Given the description of an element on the screen output the (x, y) to click on. 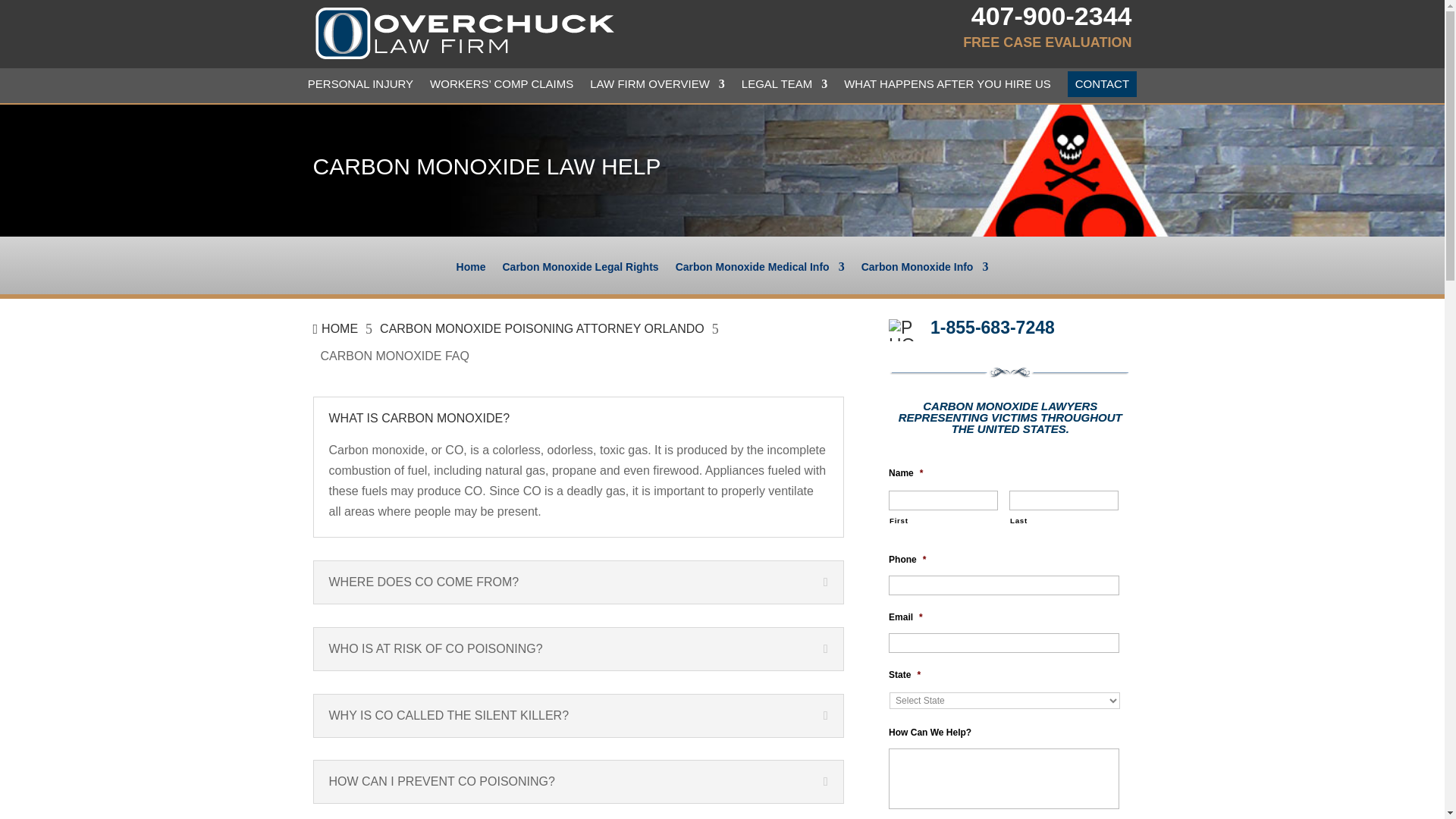
Carbon Monoxide Info (924, 277)
PERSONAL INJURY (360, 87)
CARBON MONOXIDE POISONING ATTORNEY ORLANDO (542, 329)
OLF (464, 33)
LEGAL TEAM (784, 87)
Carbon Monoxide Medical Info (759, 277)
Carbon Monoxide Legal Rights (580, 277)
1-855-683-7248 (992, 327)
WHAT HAPPENS AFTER YOU HIRE US (947, 87)
Home (471, 277)
LAW FIRM OVERVIEW (657, 87)
CONTACT (1102, 84)
